Given the description of an element on the screen output the (x, y) to click on. 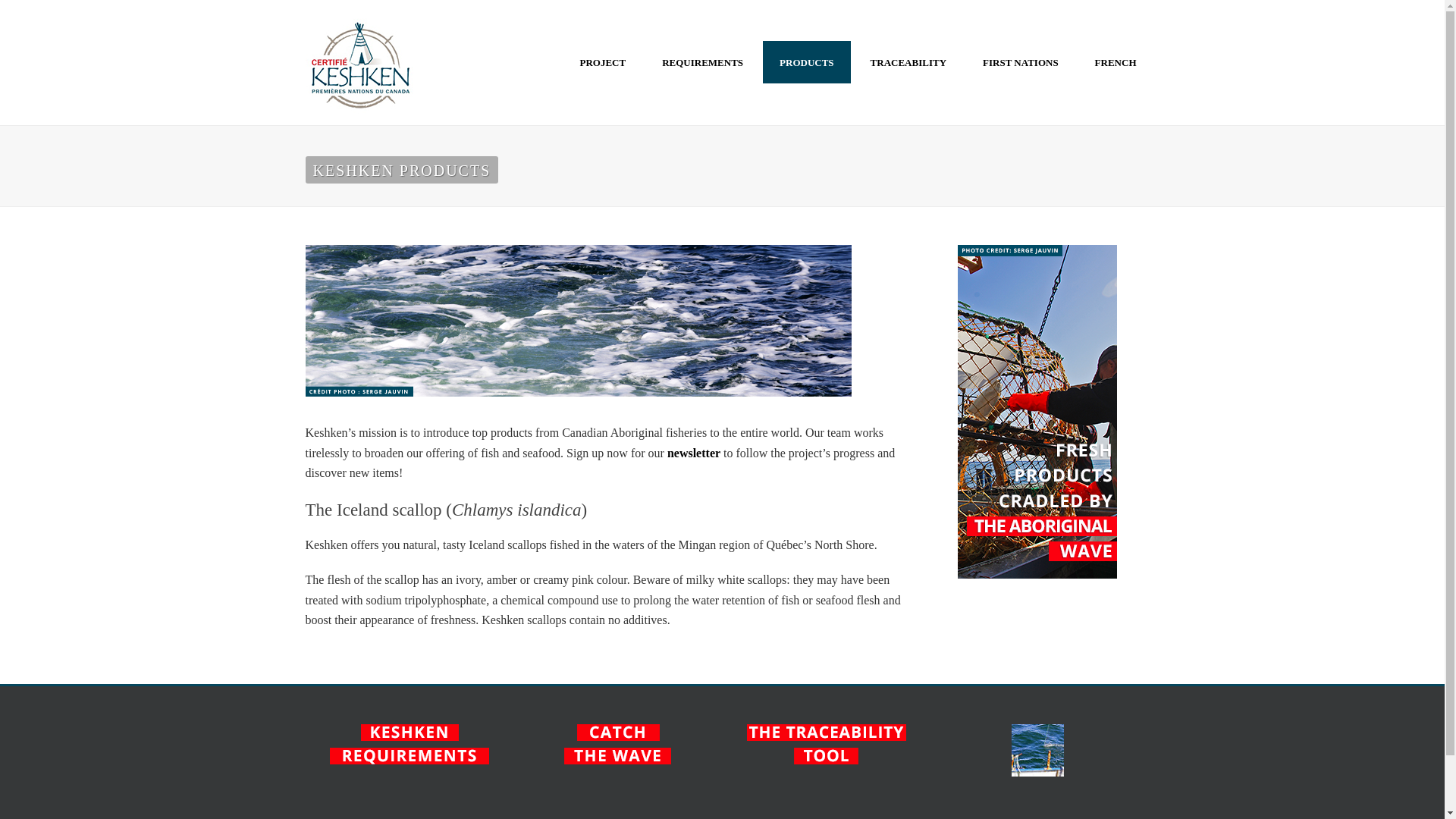
FRENCH (1115, 61)
FIRST NATIONS (1020, 61)
PROJECT (602, 61)
French (1115, 61)
PRODUCTS (806, 61)
REQUIREMENTS (702, 61)
FIRST NATIONS (1020, 61)
REQUIREMENTS (702, 61)
PRODUCTS (806, 61)
TRACEABILITY (907, 61)
